Given the description of an element on the screen output the (x, y) to click on. 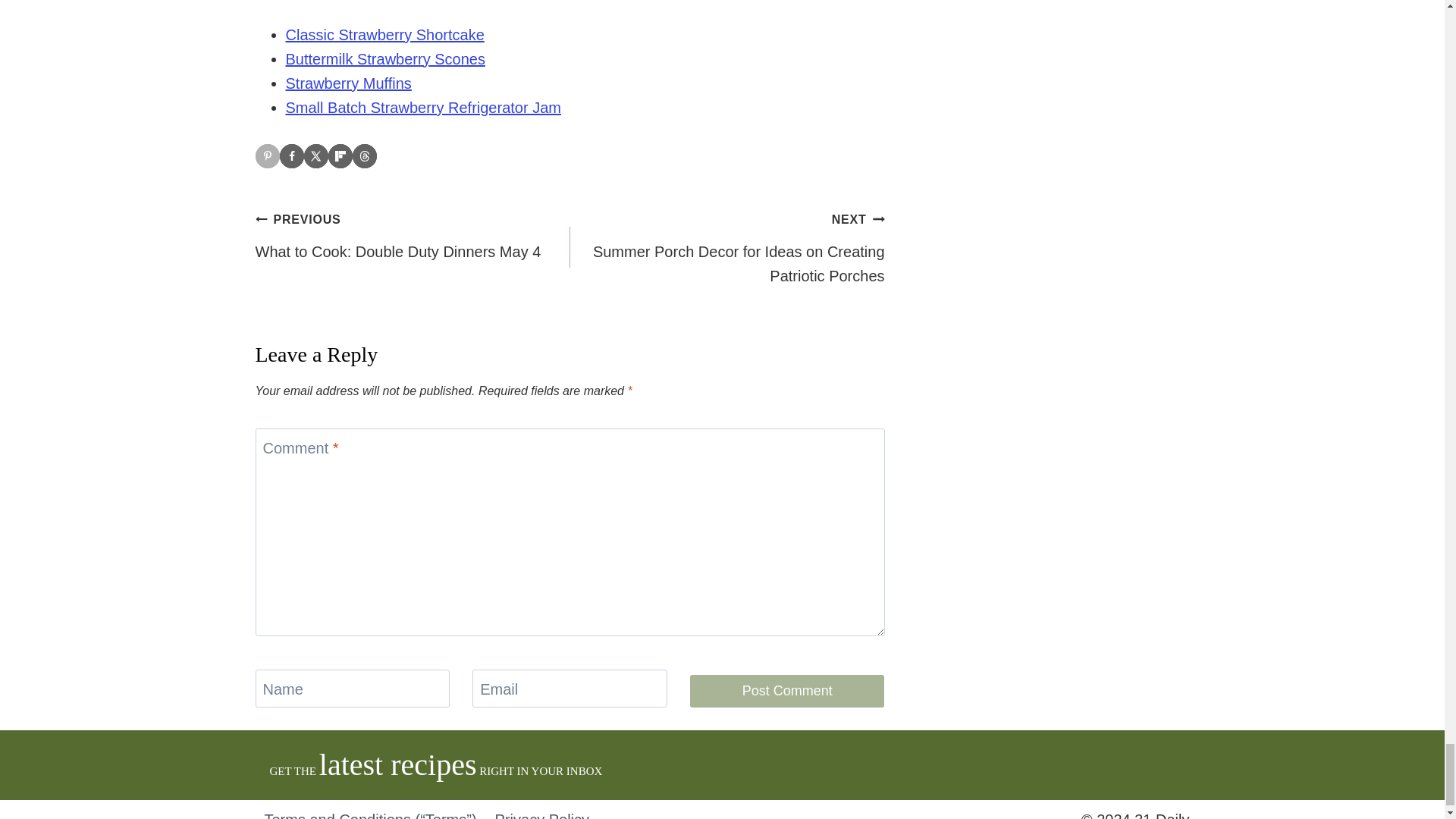
Share on Facebook (290, 156)
Share on Flipboard (339, 156)
Save to Pinterest (266, 156)
Share on X (314, 156)
Share on Threads (363, 156)
Post Comment (787, 690)
